Given the description of an element on the screen output the (x, y) to click on. 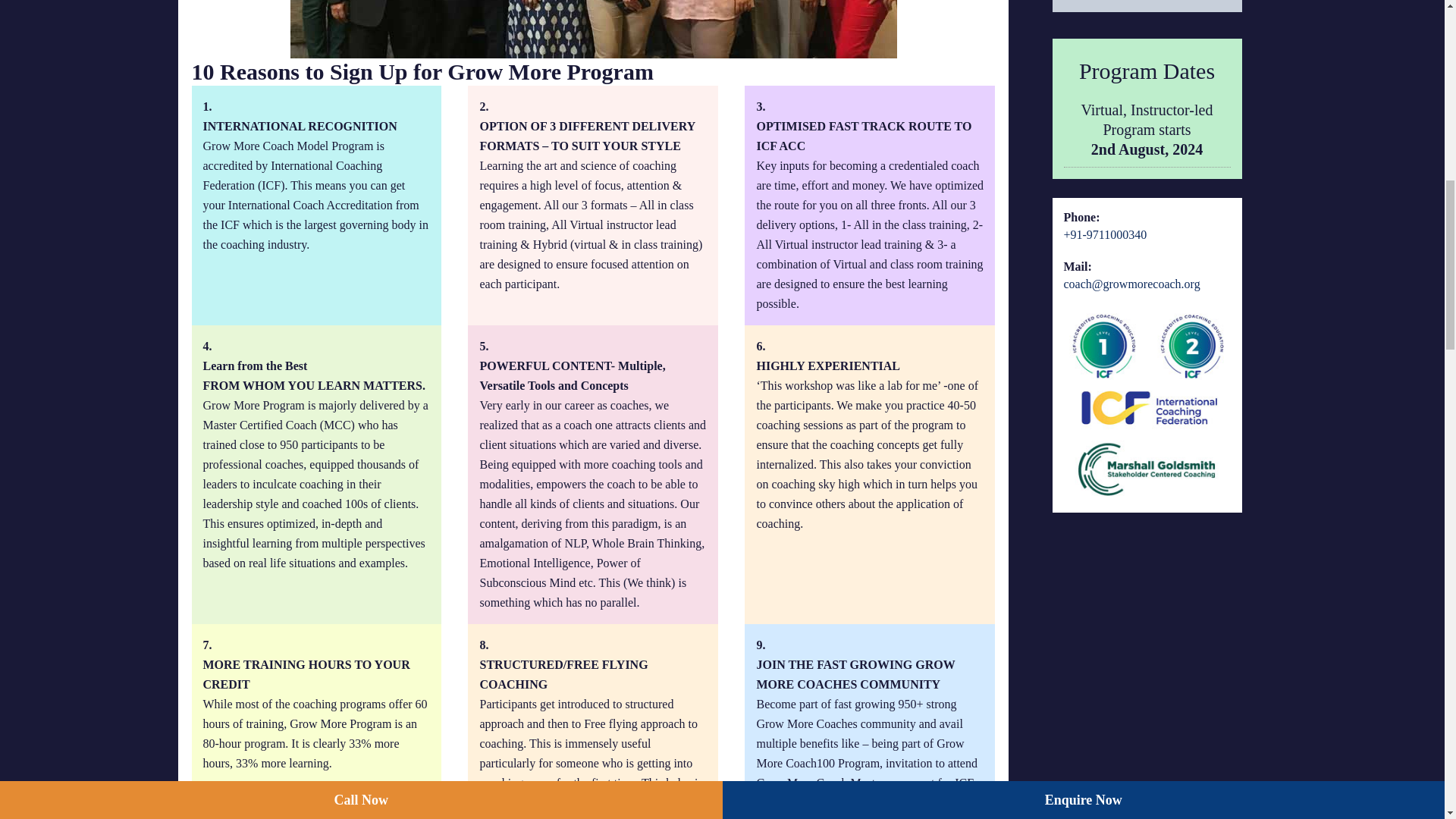
Send Message (1146, 6)
Send Message (1146, 6)
